Given the description of an element on the screen output the (x, y) to click on. 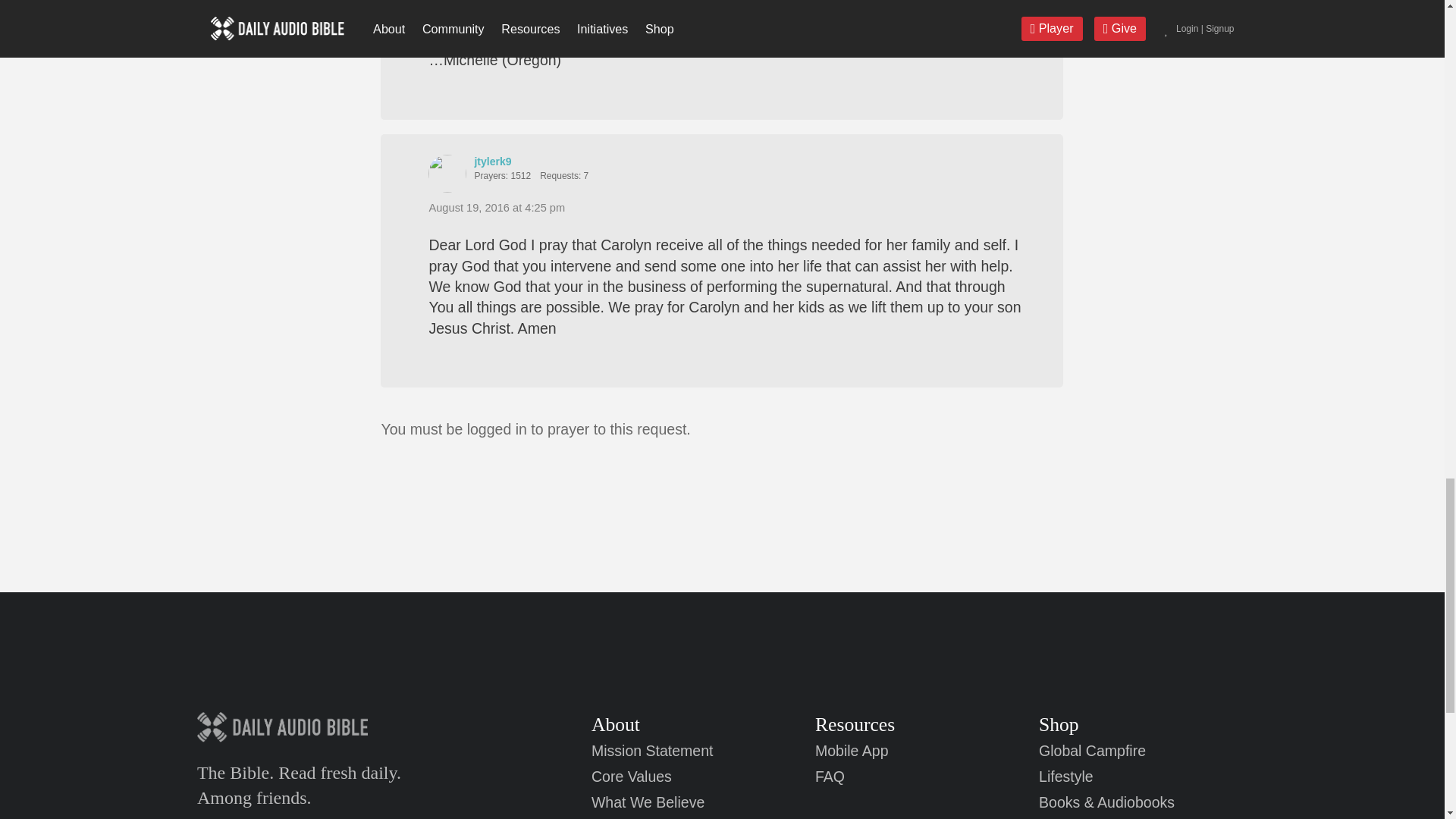
Daily Audio Bible (340, 726)
